Given the description of an element on the screen output the (x, y) to click on. 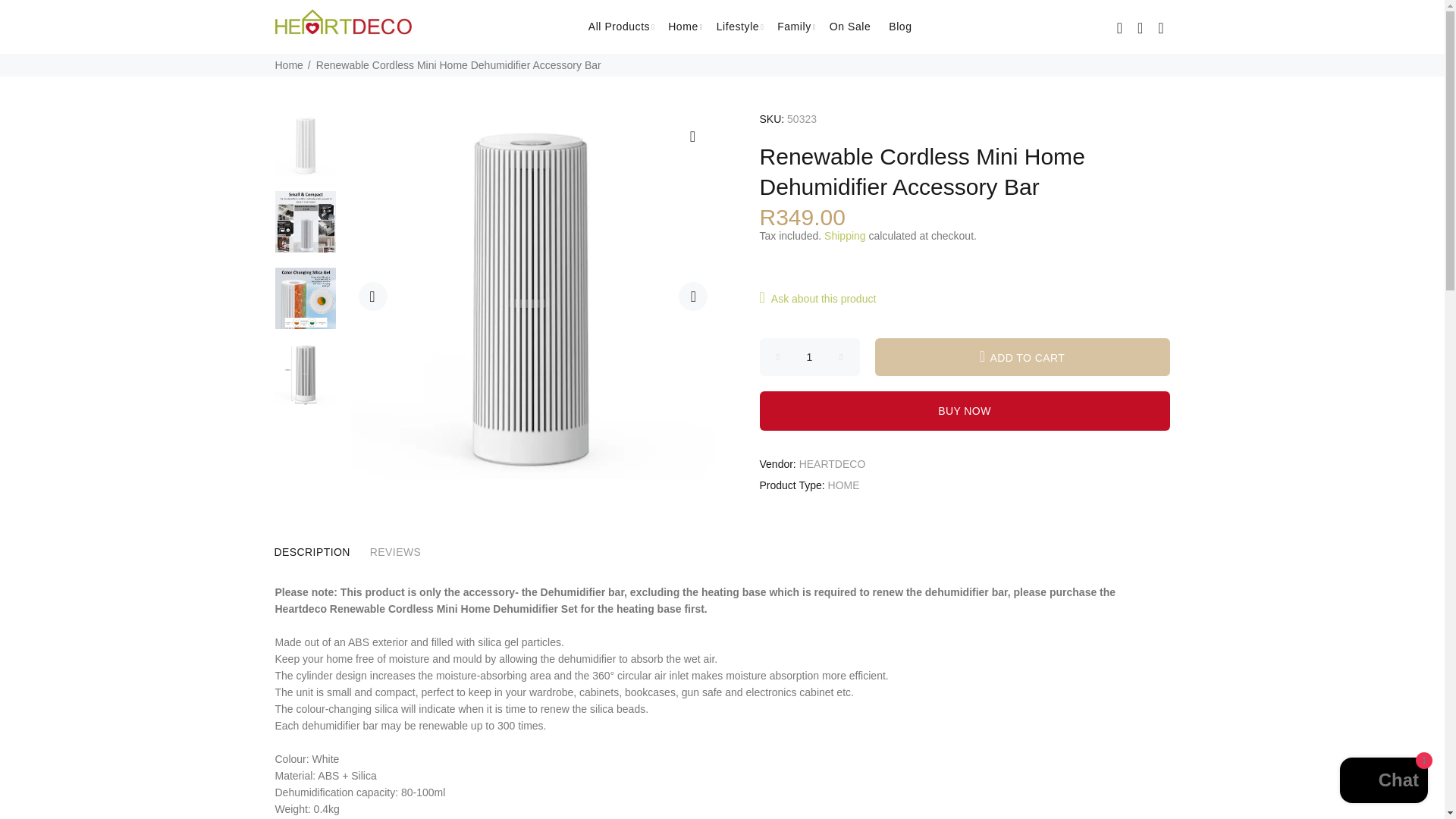
1 (810, 356)
Shopify online store chat (1383, 781)
